Given the description of an element on the screen output the (x, y) to click on. 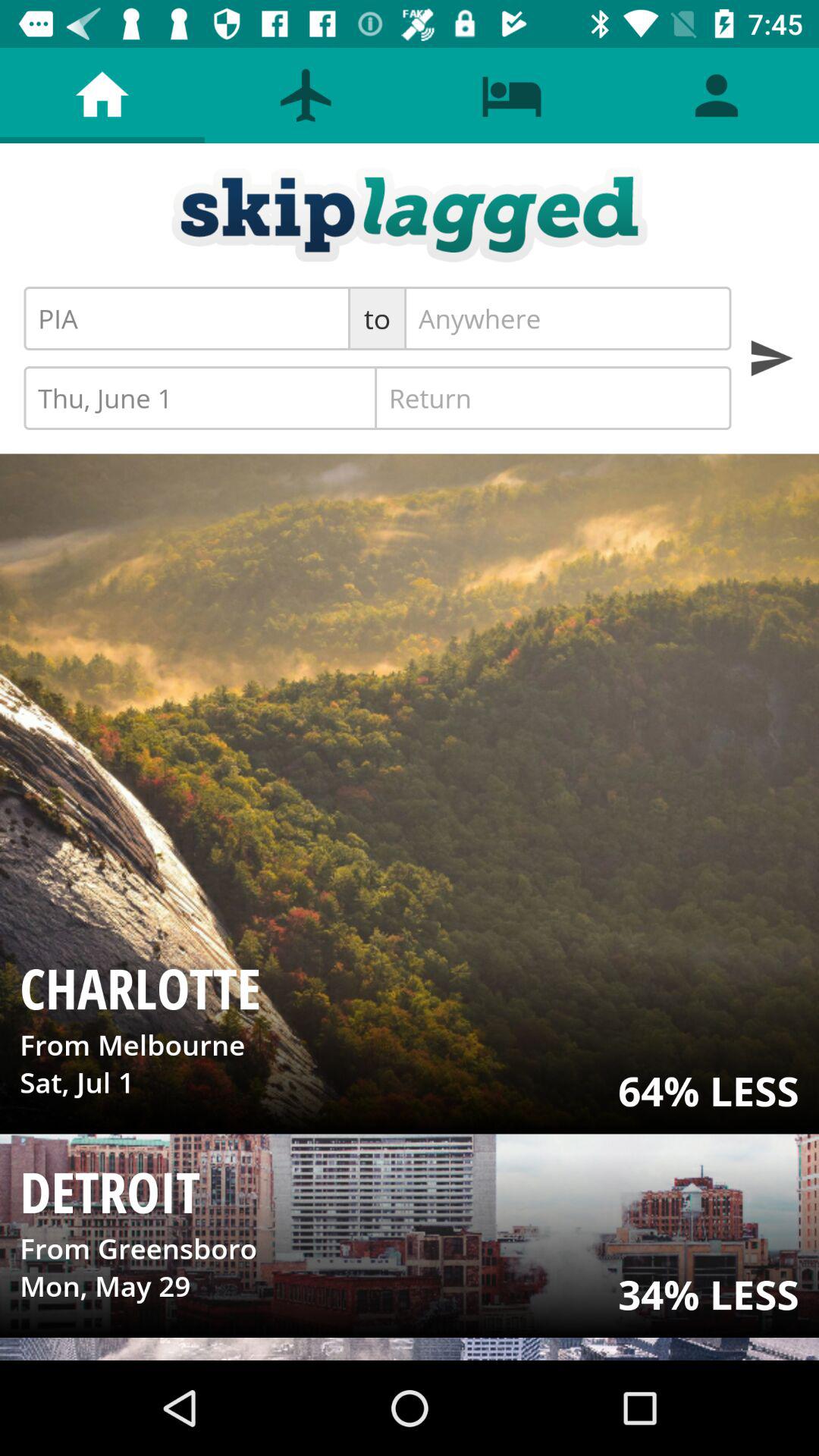
press the pia icon (187, 318)
